Given the description of an element on the screen output the (x, y) to click on. 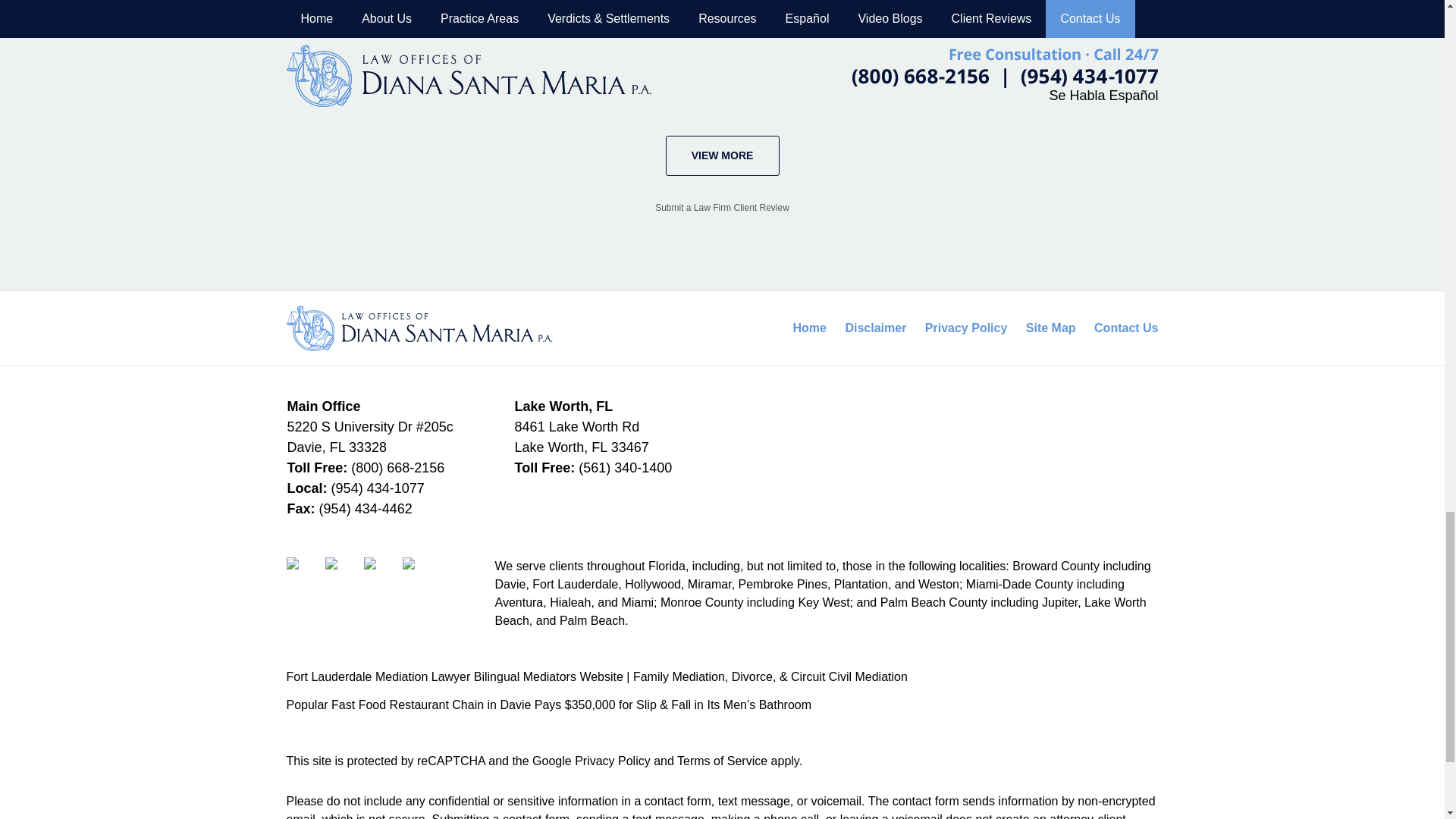
Justia (420, 574)
Twitter (341, 574)
Facebook (303, 574)
LinkedIn (381, 574)
